Given the description of an element on the screen output the (x, y) to click on. 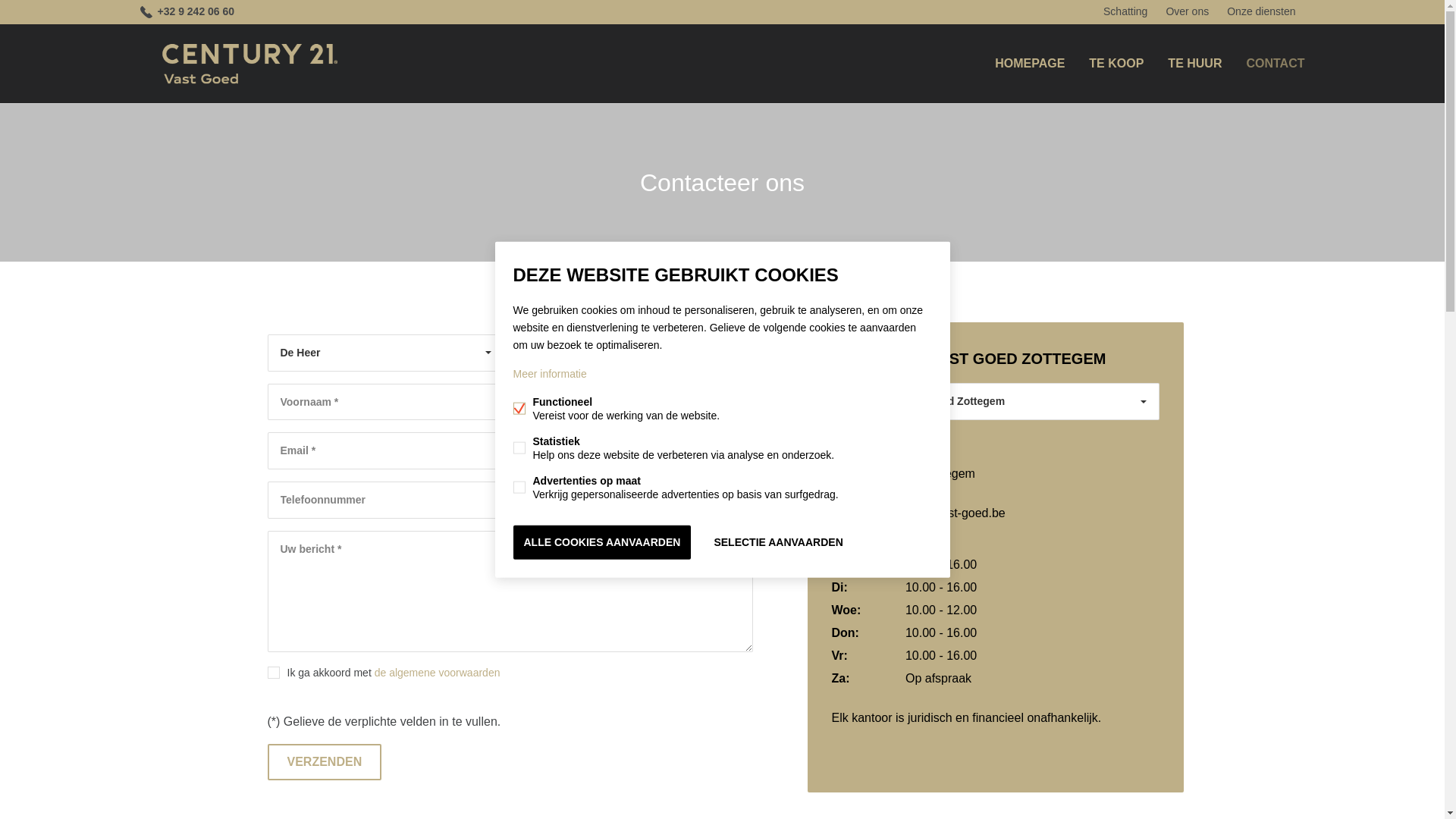
CONTACT Element type: text (1274, 62)
+32 9 242 06 60 Element type: text (884, 492)
Over ons Element type: text (1186, 12)
TE HUUR Element type: text (1194, 62)
Schatting Element type: text (1125, 12)
SELECTIE AANVAARDEN Element type: text (777, 542)
+32 9 242 06 60 Element type: text (186, 12)
TE KOOP Element type: text (1115, 62)
ALLE COOKIES AANVAARDEN Element type: text (601, 542)
de algemene voorwaarden Element type: text (437, 672)
Meer informatie Element type: text (549, 373)
Verzenden Element type: text (323, 761)
Onze diensten Element type: text (1260, 12)
info@century21vast-goed.be Element type: text (917, 512)
HOMEPAGE Element type: text (1029, 62)
